Given the description of an element on the screen output the (x, y) to click on. 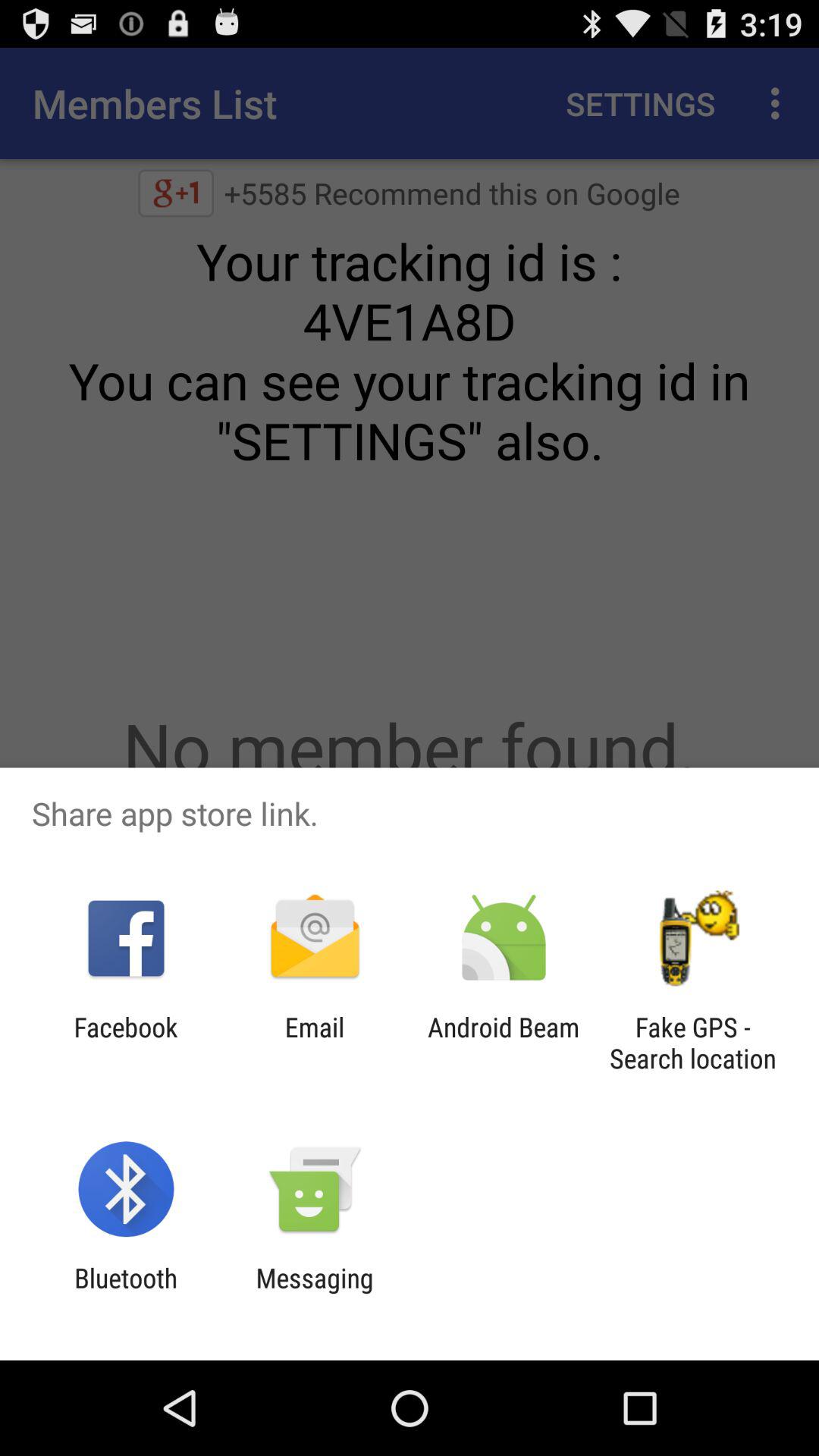
click item next to the email item (125, 1042)
